Given the description of an element on the screen output the (x, y) to click on. 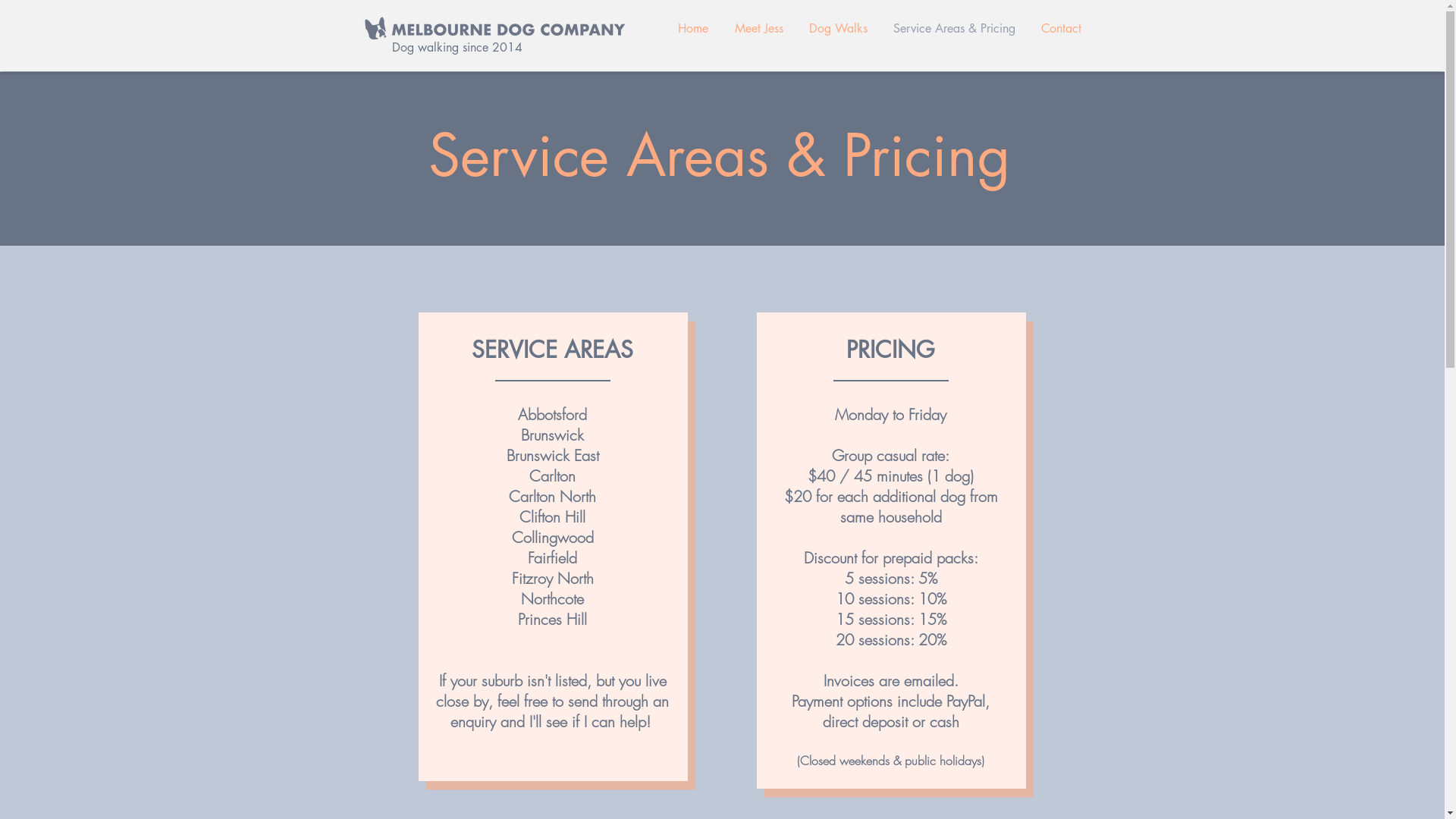
Home Element type: text (692, 28)
Meet Jess Element type: text (758, 28)
Contact Element type: text (1061, 28)
Service Areas & Pricing Element type: text (953, 28)
Dog Walks Element type: text (838, 28)
